Given the description of an element on the screen output the (x, y) to click on. 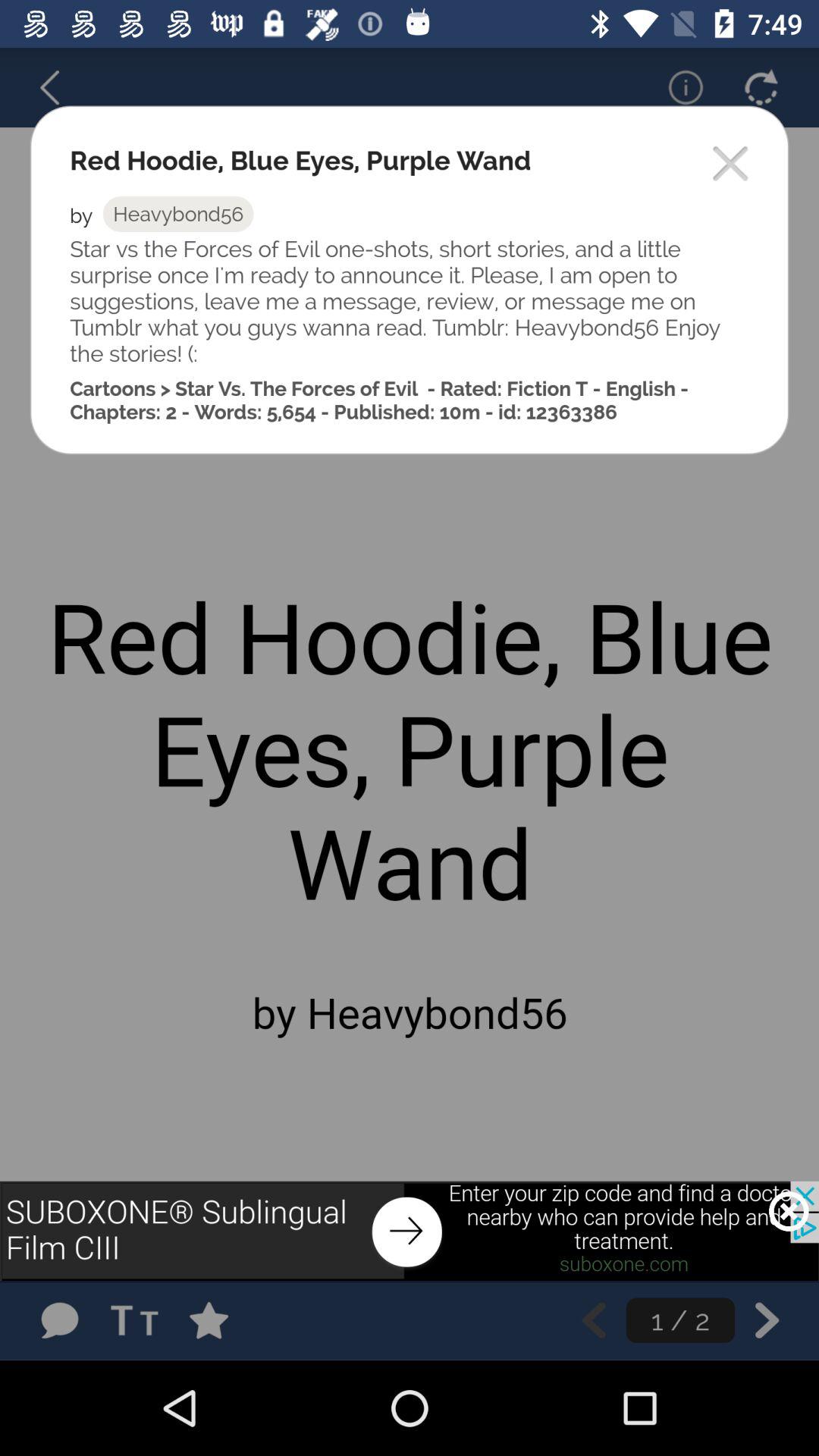
open advertisement (409, 1230)
